Given the description of an element on the screen output the (x, y) to click on. 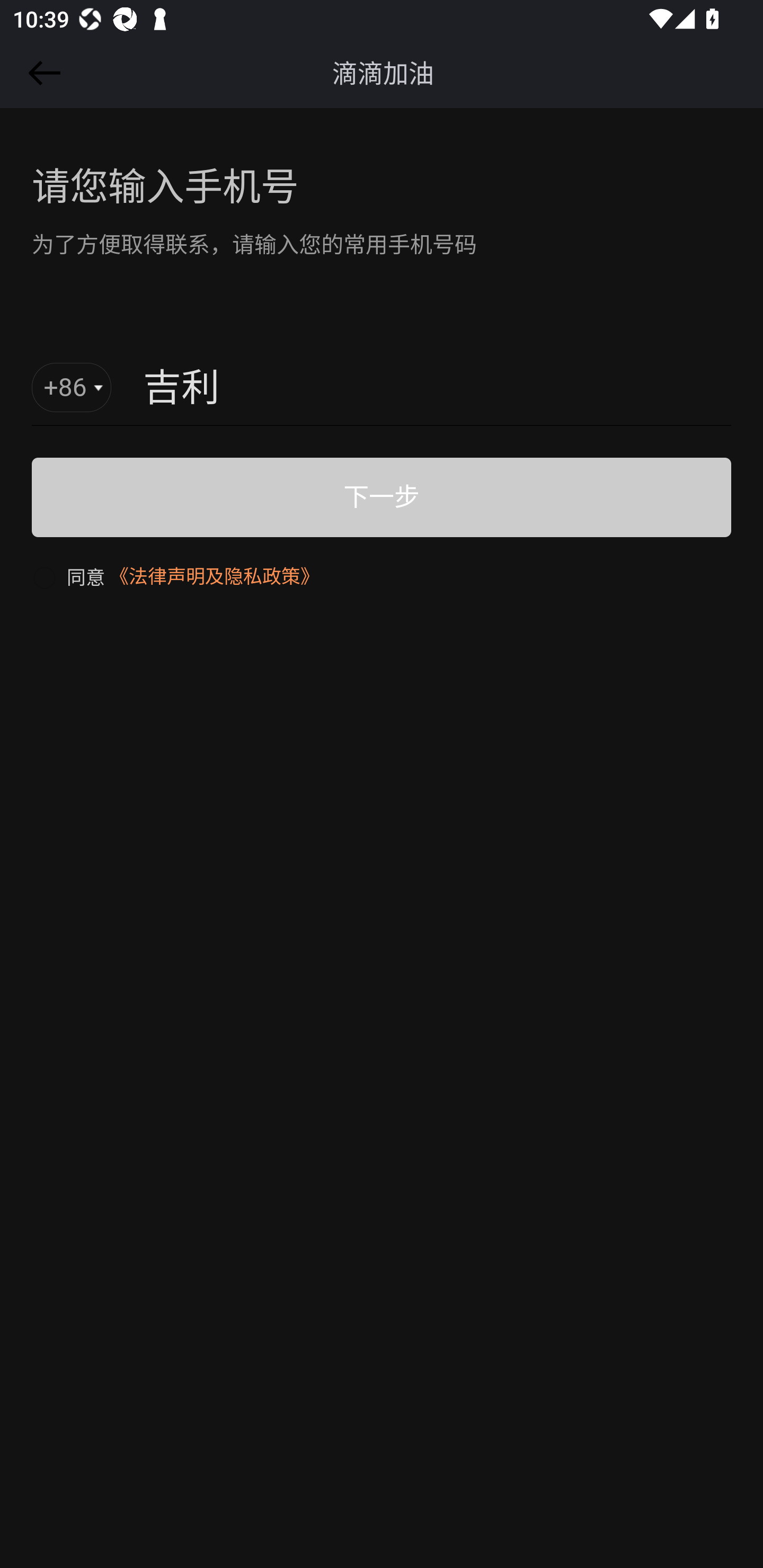
 (41, 72)
+86 (72, 387)
吉利 (388, 388)
下一步 (381, 496)
同意 (68, 576)
《法律声明及隐私政策》 (213, 576)
